Given the description of an element on the screen output the (x, y) to click on. 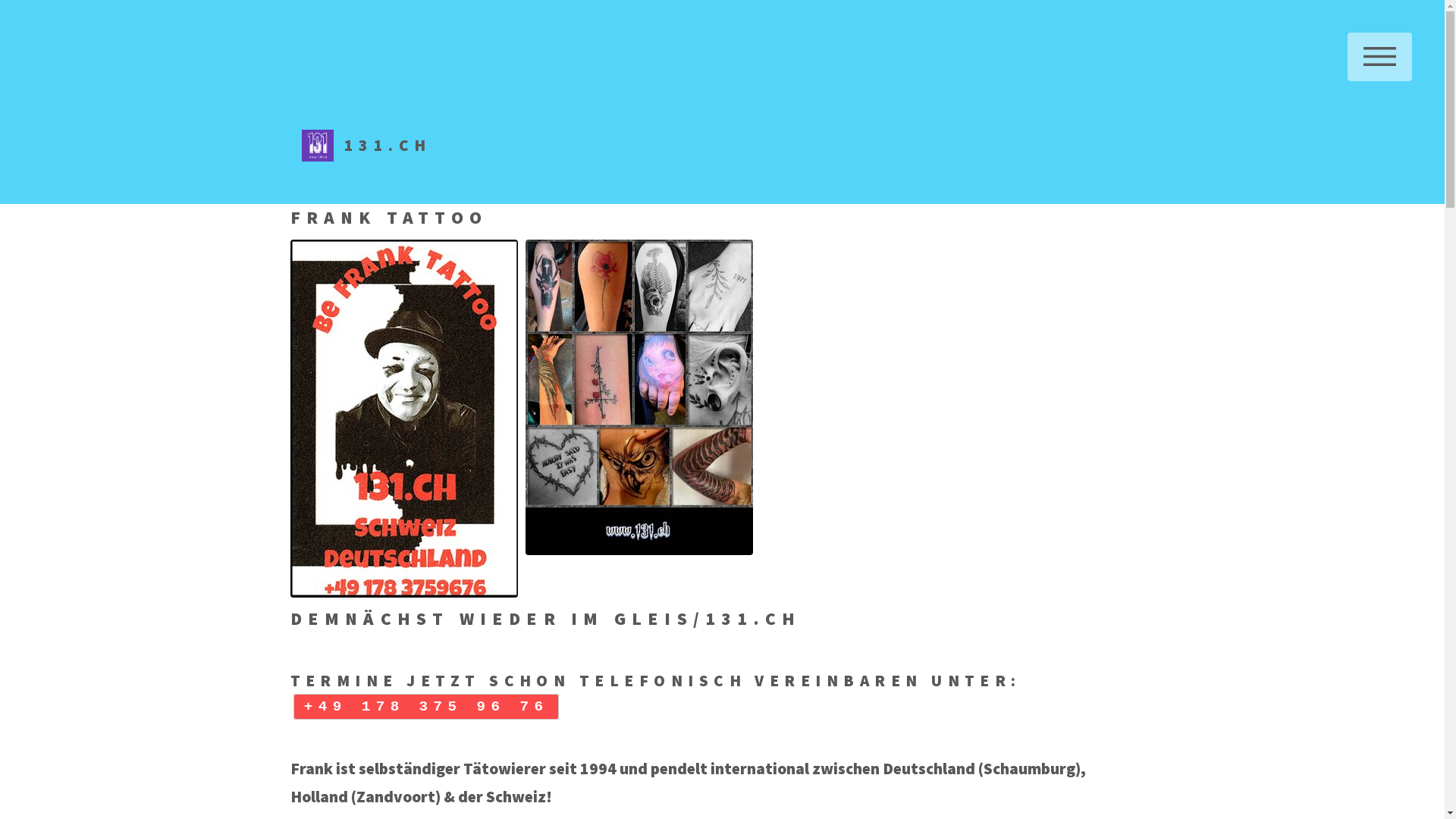
131.CH Element type: text (366, 145)
MENU Element type: text (1379, 56)
